Given the description of an element on the screen output the (x, y) to click on. 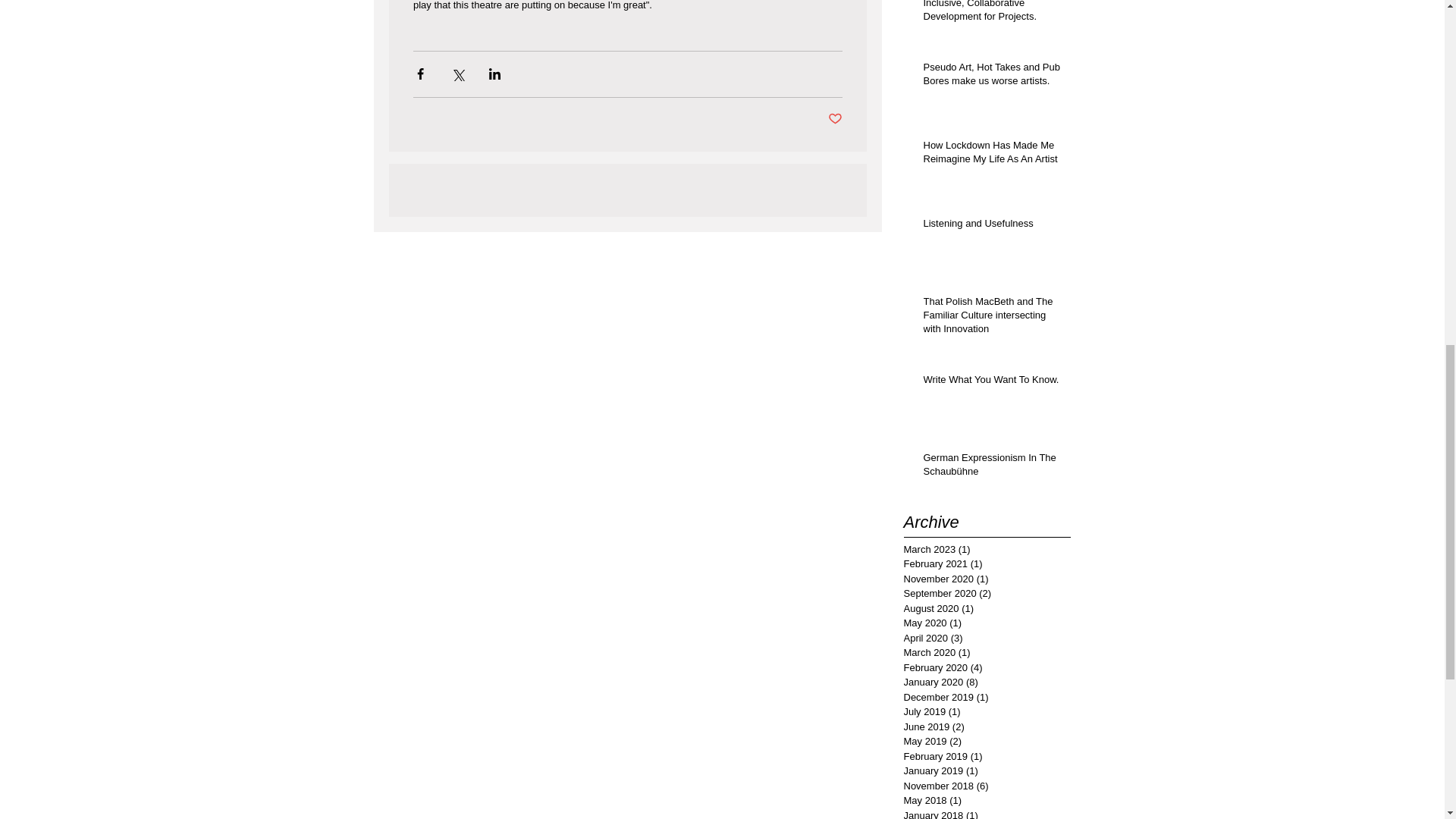
How Lockdown Has Made Me Reimagine My Life As An Artist (992, 154)
Post not marked as liked (835, 119)
Listening and Usefulness (992, 226)
Pseudo Art, Hot Takes and Pub Bores make us worse artists. (992, 77)
Write What You Want To Know. (992, 383)
